Given the description of an element on the screen output the (x, y) to click on. 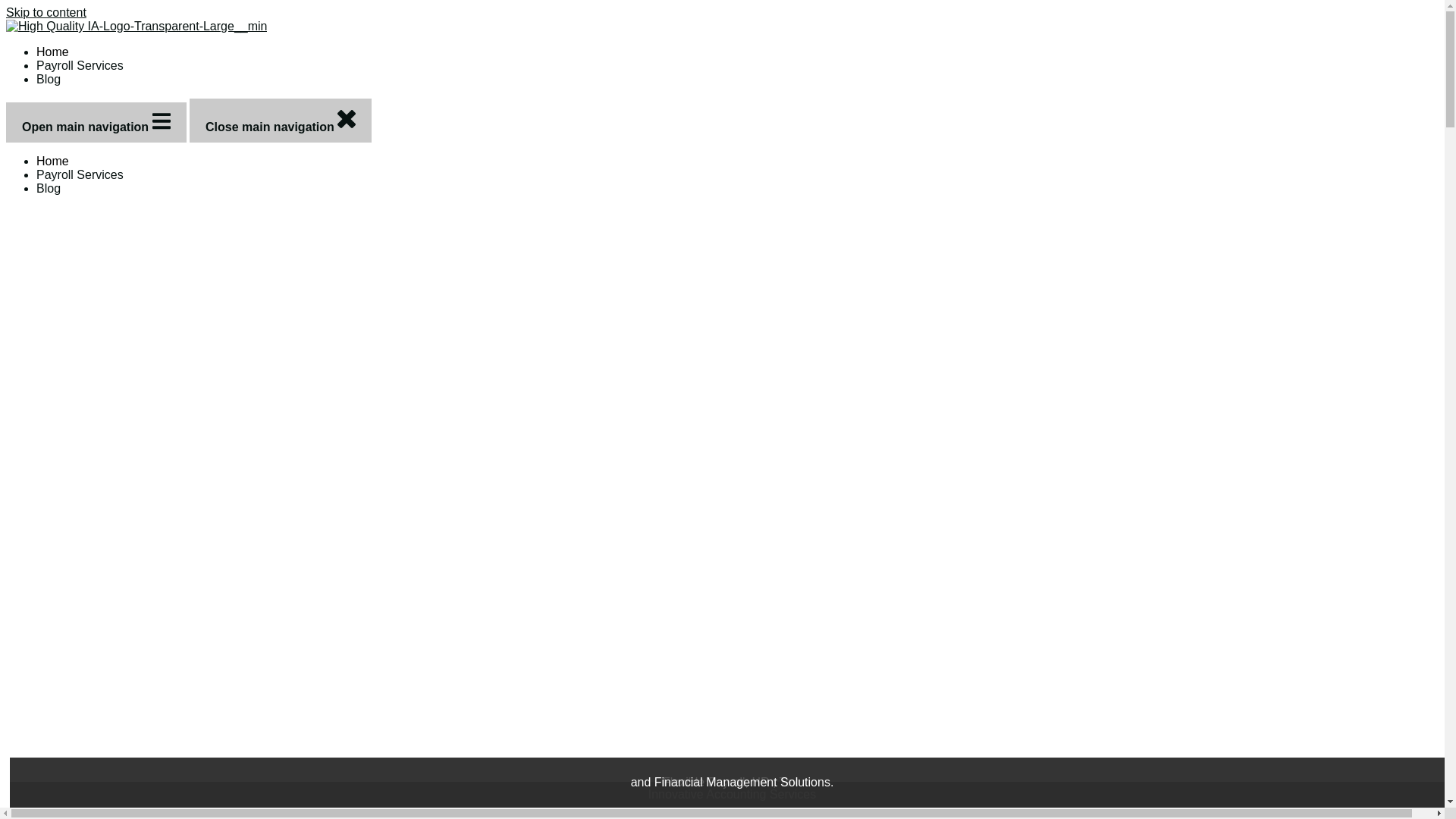
Home (52, 51)
Blog (48, 187)
Open main navigation (95, 122)
Home (52, 160)
Payroll Services (79, 174)
Close main navigation (280, 120)
Skip to content (45, 11)
Payroll Services (79, 65)
Blog (48, 78)
